Given the description of an element on the screen output the (x, y) to click on. 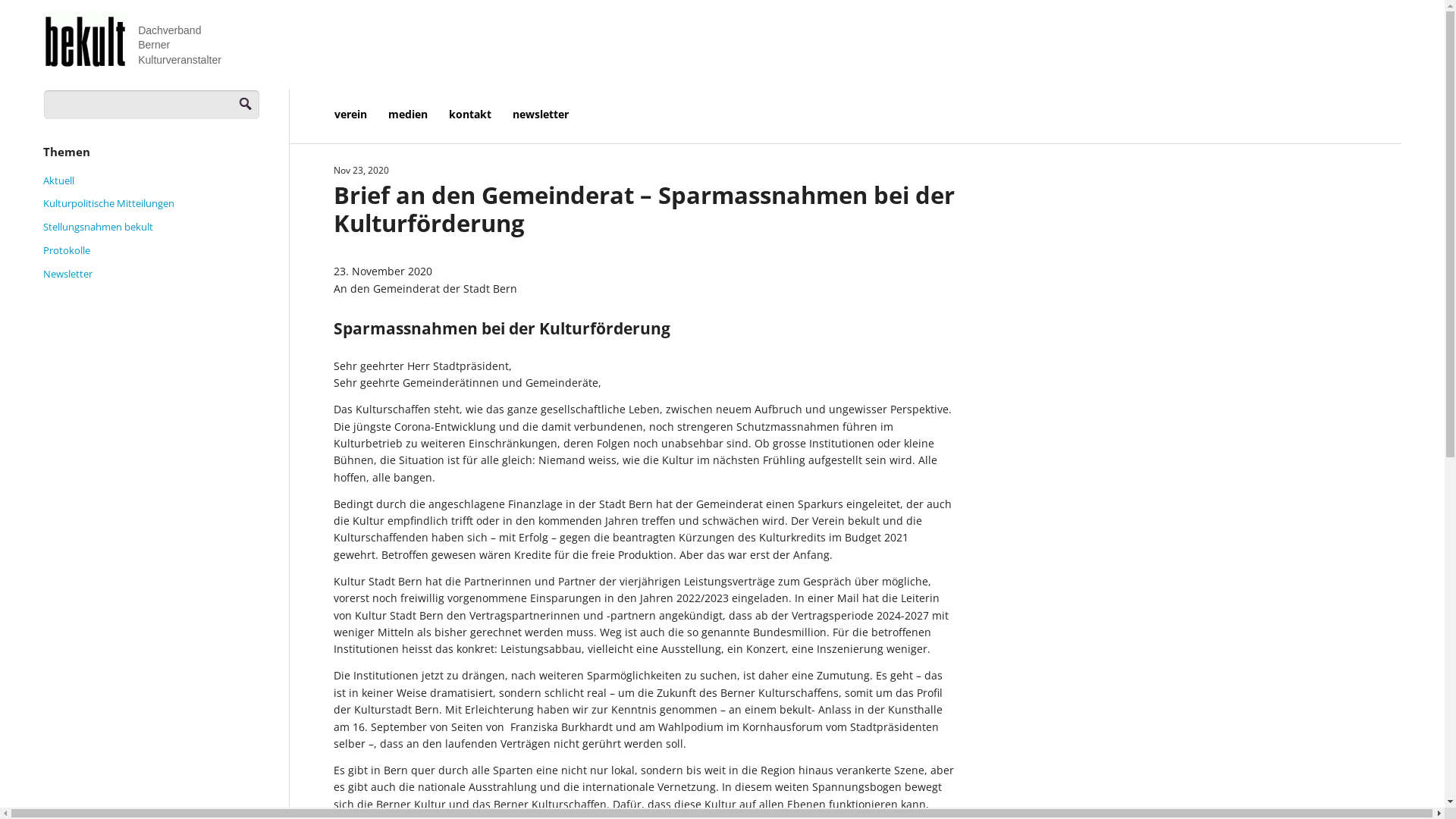
newsletter Element type: text (550, 114)
verein Element type: text (361, 114)
Protokolle Element type: text (66, 250)
Dachverband Berner Kulturveranstalter Element type: text (135, 39)
Stellungsnahmen bekult Element type: text (98, 226)
Kulturpolitische Mitteilungen Element type: text (108, 203)
Aktuell Element type: text (58, 179)
medien Element type: text (418, 114)
kontakt Element type: text (480, 114)
Suche Element type: text (147, 7)
Newsletter Element type: text (67, 273)
